Given the description of an element on the screen output the (x, y) to click on. 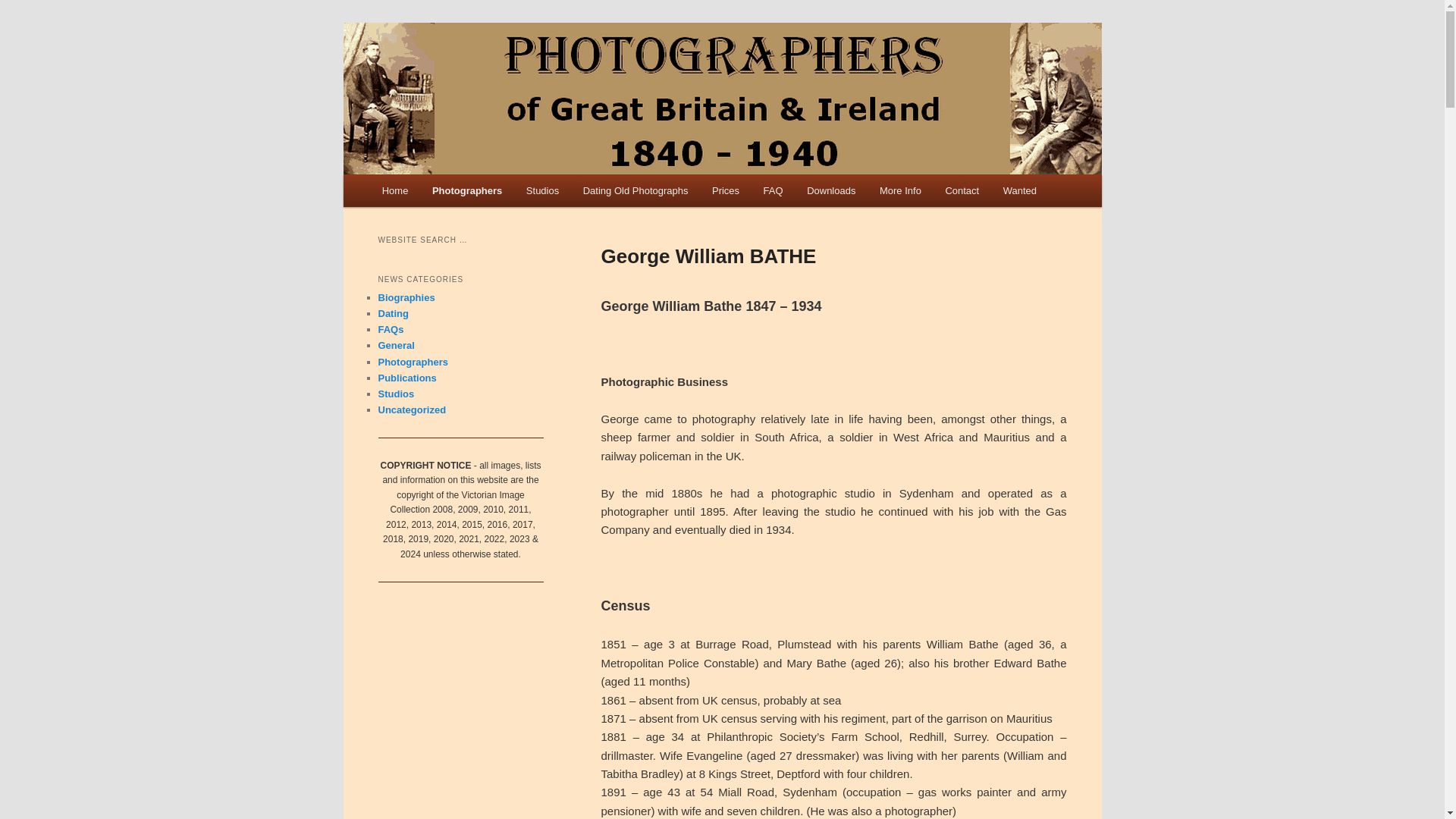
Skip to primary content (449, 193)
Skip to secondary content (456, 193)
Home (394, 190)
Skip to secondary content (456, 193)
Photographers (466, 190)
Skip to primary content (449, 193)
